Given the description of an element on the screen output the (x, y) to click on. 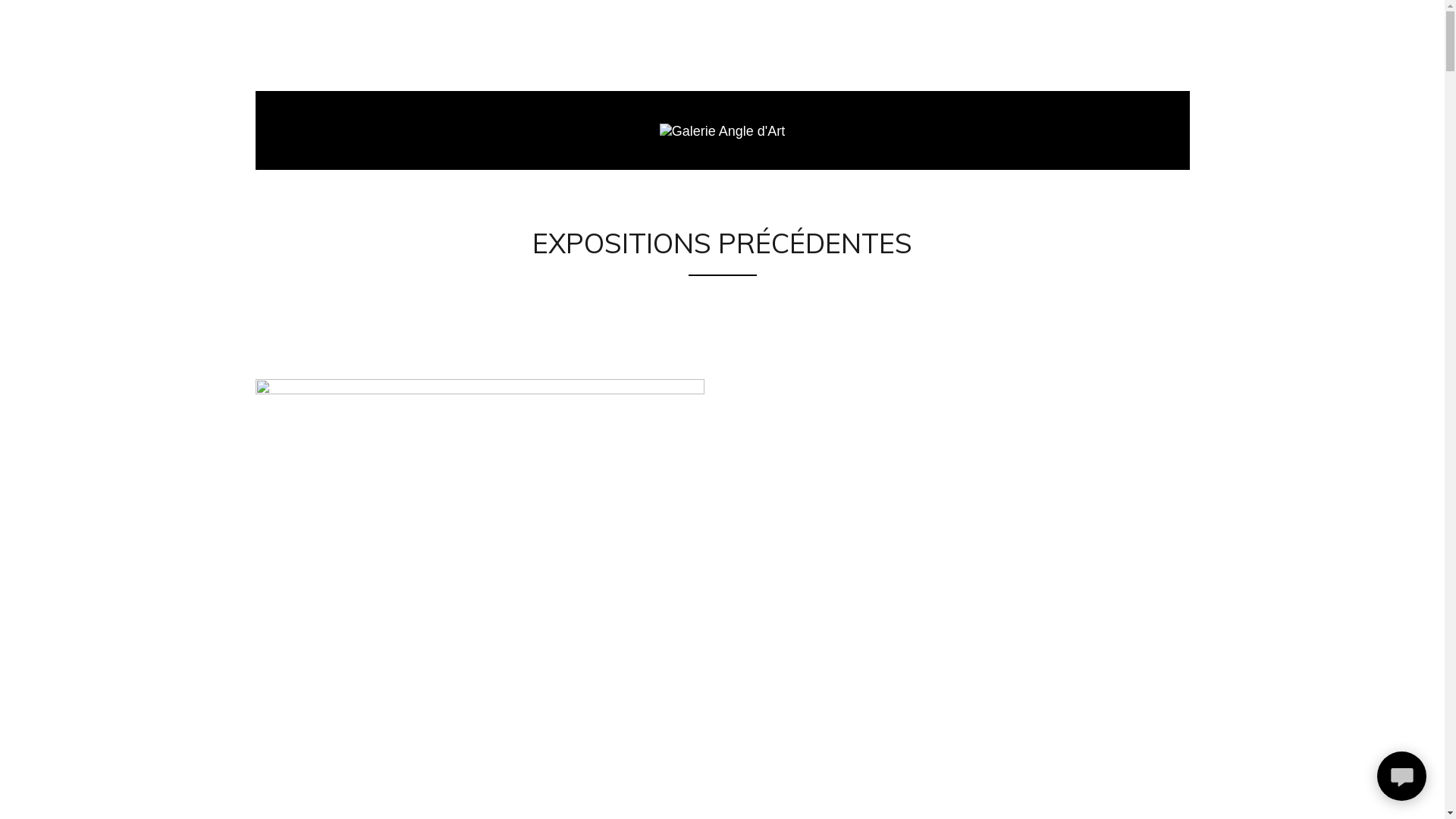
Galerie Angle d'Art Element type: hover (722, 130)
